Given the description of an element on the screen output the (x, y) to click on. 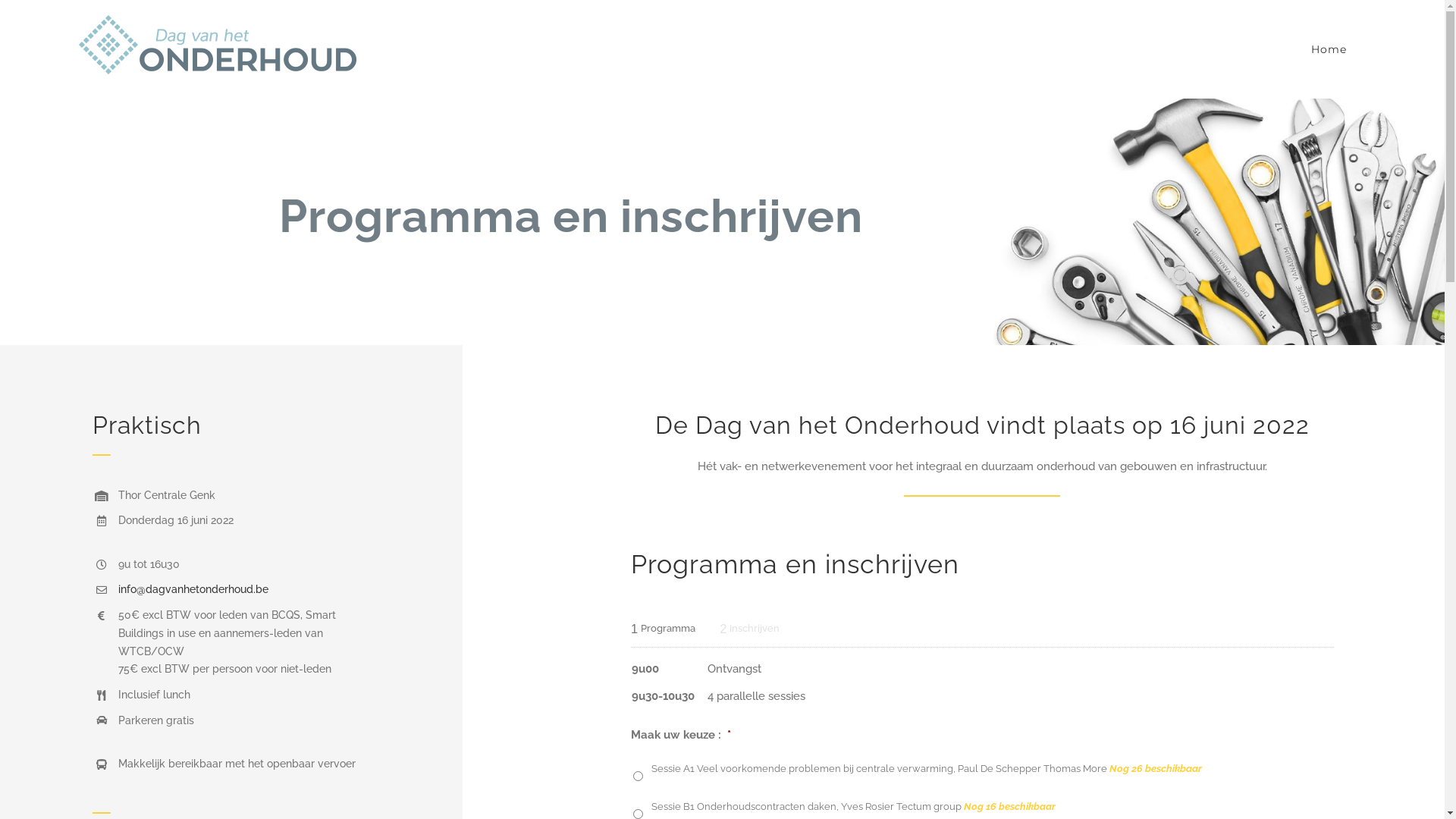
info@dagvanhetonderhoud.be Element type: text (193, 589)
Home Element type: text (1328, 49)
